Given the description of an element on the screen output the (x, y) to click on. 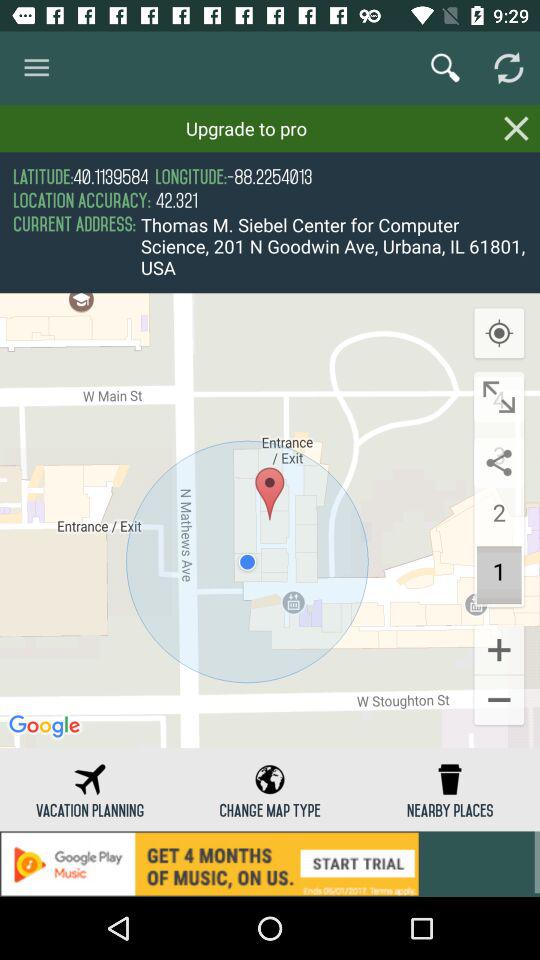
select google above the vacation planning (46, 727)
